Given the description of an element on the screen output the (x, y) to click on. 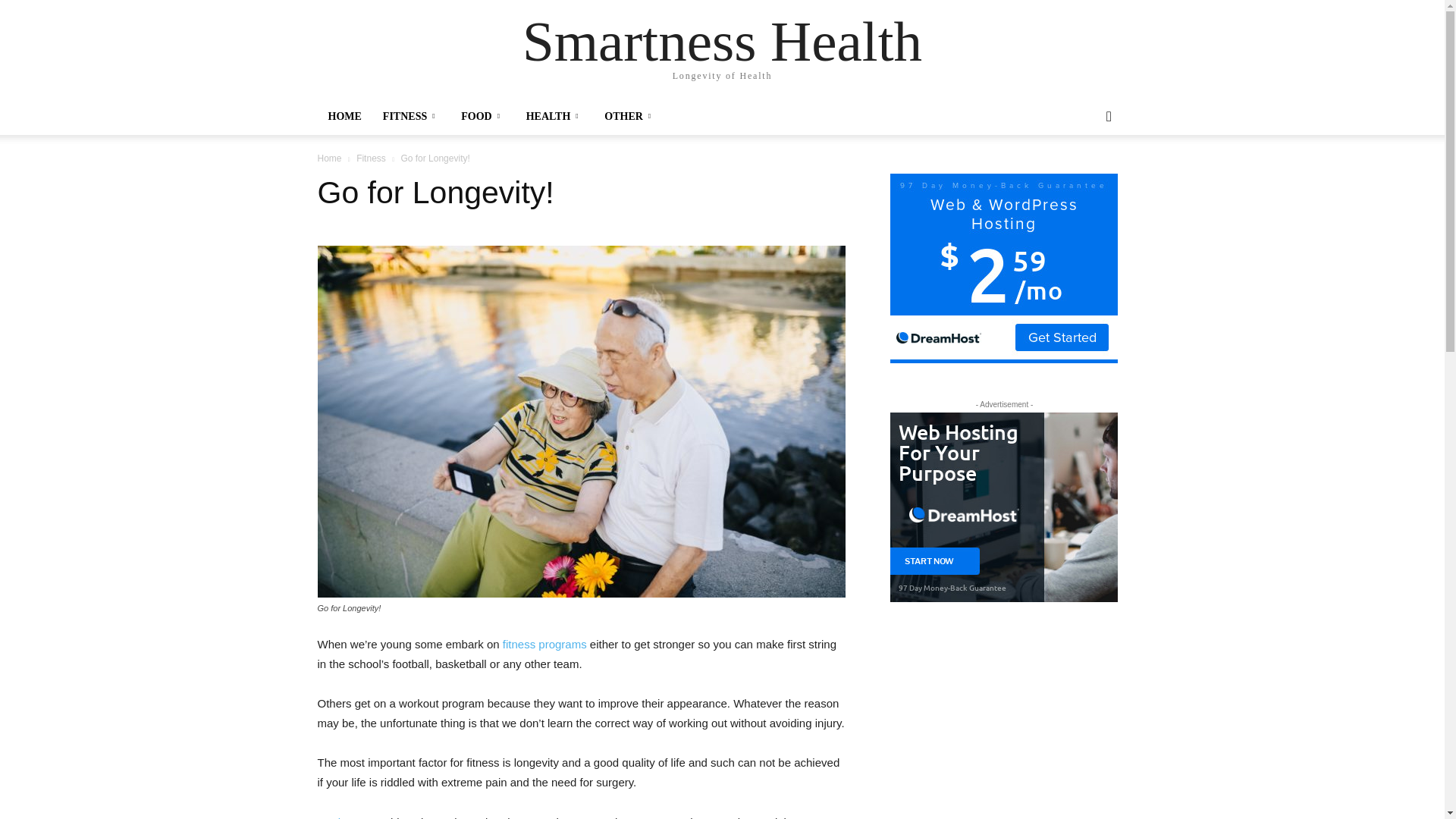
HOME (344, 116)
Smartness Health (721, 41)
FITNESS (410, 116)
